Given the description of an element on the screen output the (x, y) to click on. 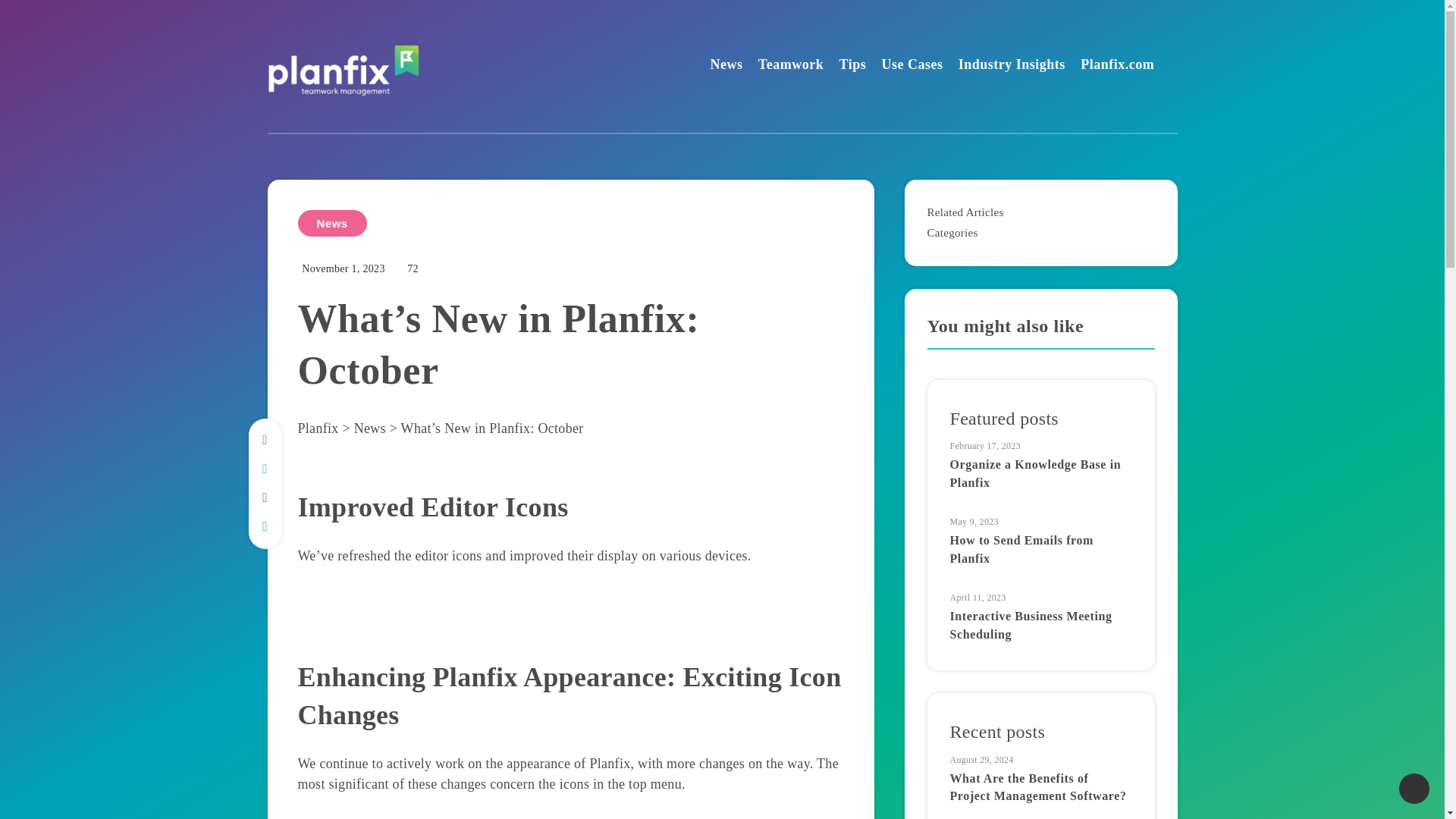
Interactive Business Meeting Scheduling (1030, 626)
How to Send Emails from Planfix (1021, 550)
News (331, 222)
News (726, 65)
News (369, 427)
What Are the Benefits of Project Management Software? (1037, 788)
Planfix (317, 427)
Planfix.com (1117, 65)
Categories (951, 232)
Industry Insights (1011, 65)
